Given the description of an element on the screen output the (x, y) to click on. 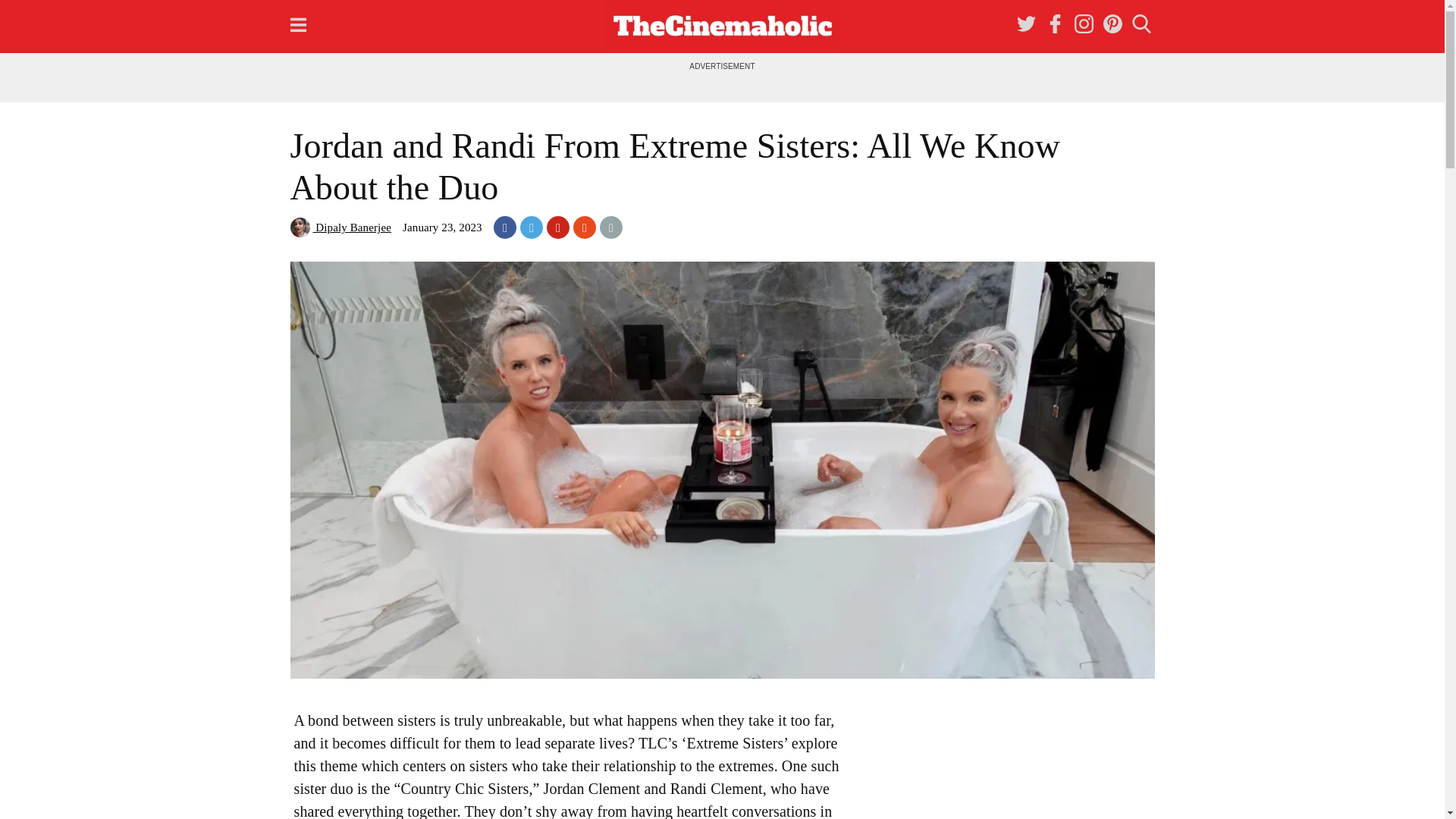
Dipaly Banerjee (339, 227)
